Given the description of an element on the screen output the (x, y) to click on. 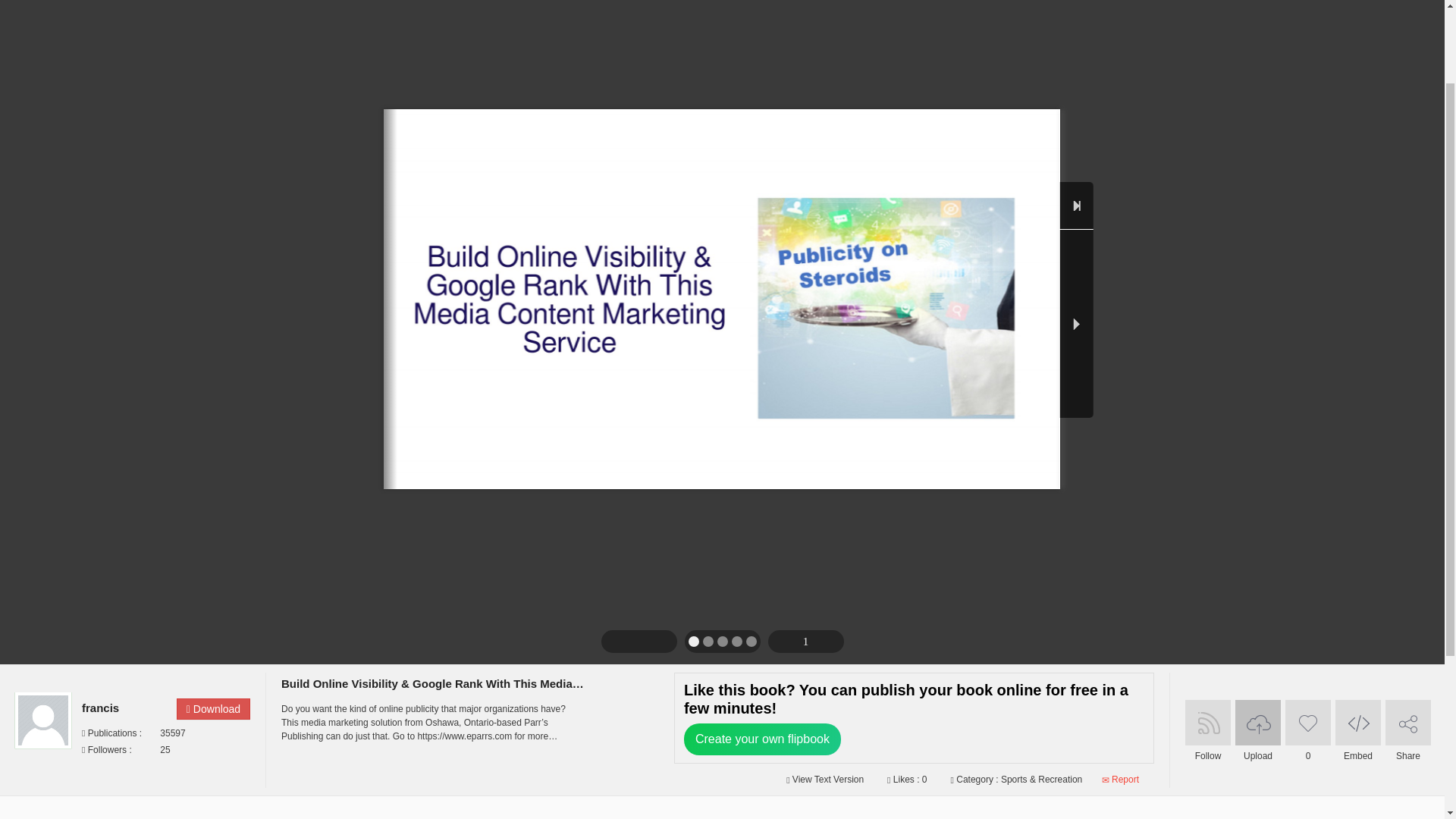
Add to my favorites (1307, 722)
Download this PDF file (213, 708)
Embed this book (1357, 722)
francis (124, 708)
Convert your own PDF file to online flipbook (1257, 722)
Share this book (1408, 722)
View text version for this publication (823, 778)
francis (124, 708)
